Given the description of an element on the screen output the (x, y) to click on. 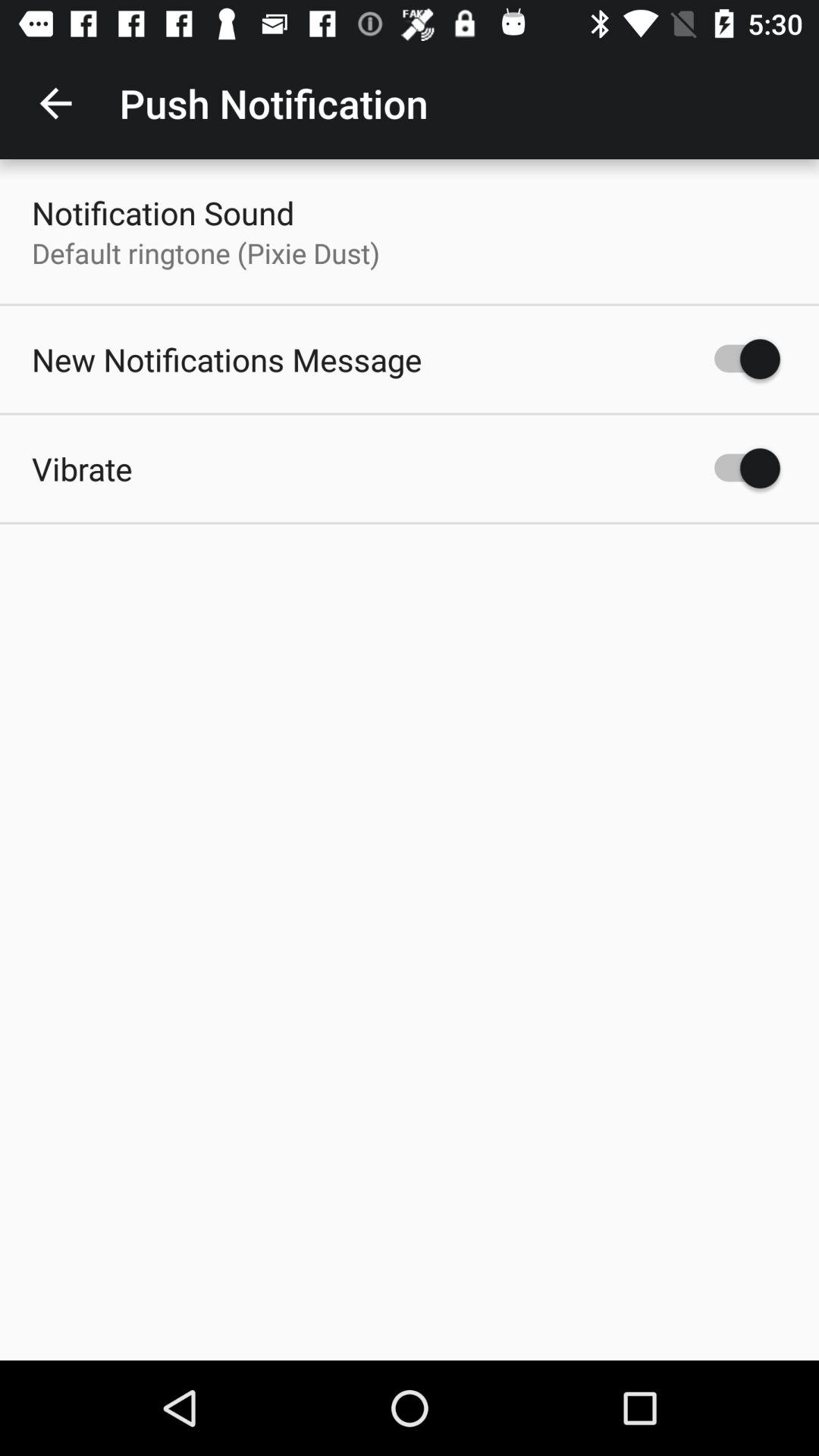
open item next to the push notification (55, 103)
